Given the description of an element on the screen output the (x, y) to click on. 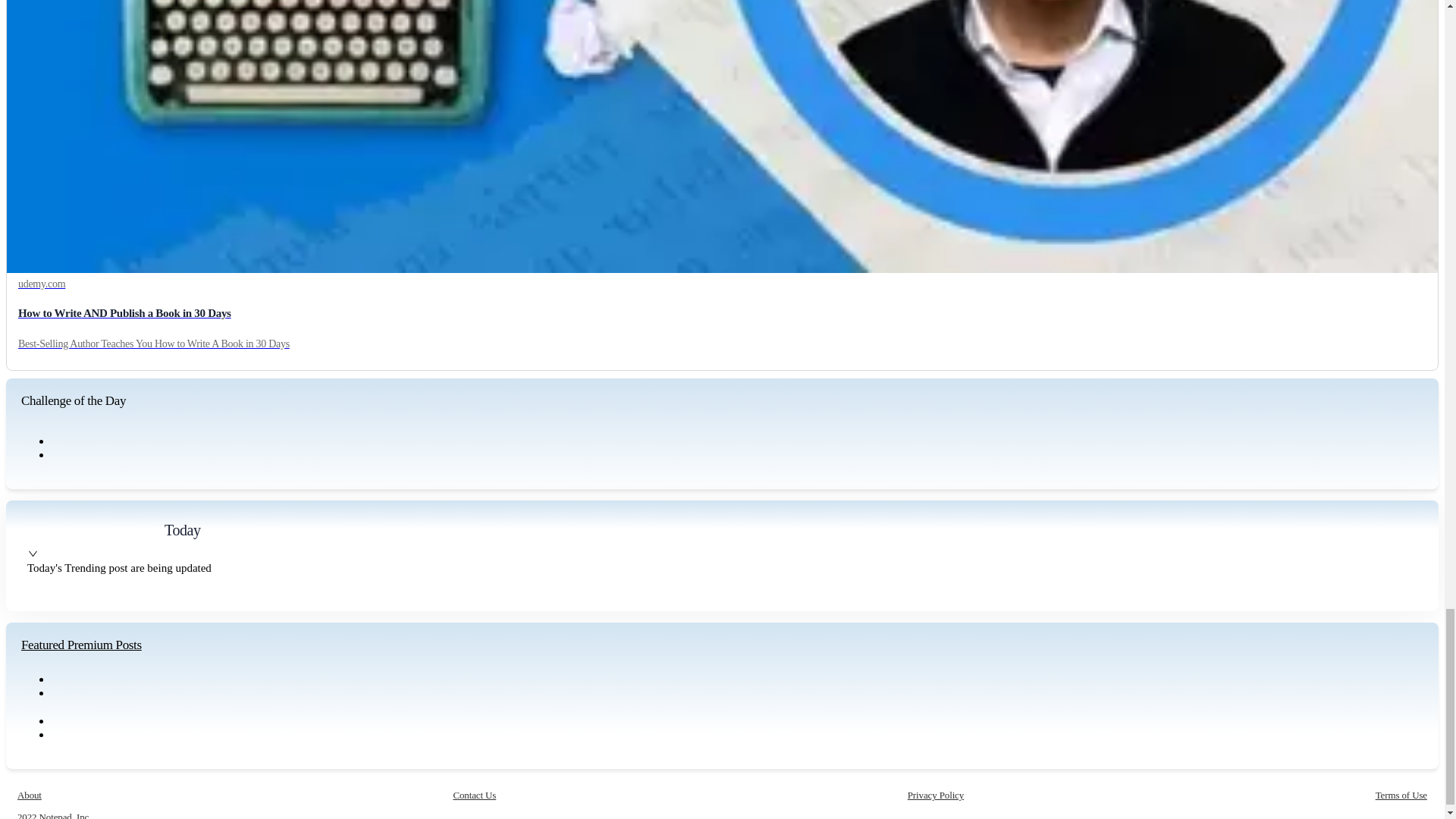
Today (182, 529)
About (29, 795)
Contact Us (474, 795)
Featured Premium Posts (81, 644)
Privacy Policy (935, 795)
Terms of Use (1400, 795)
